Given the description of an element on the screen output the (x, y) to click on. 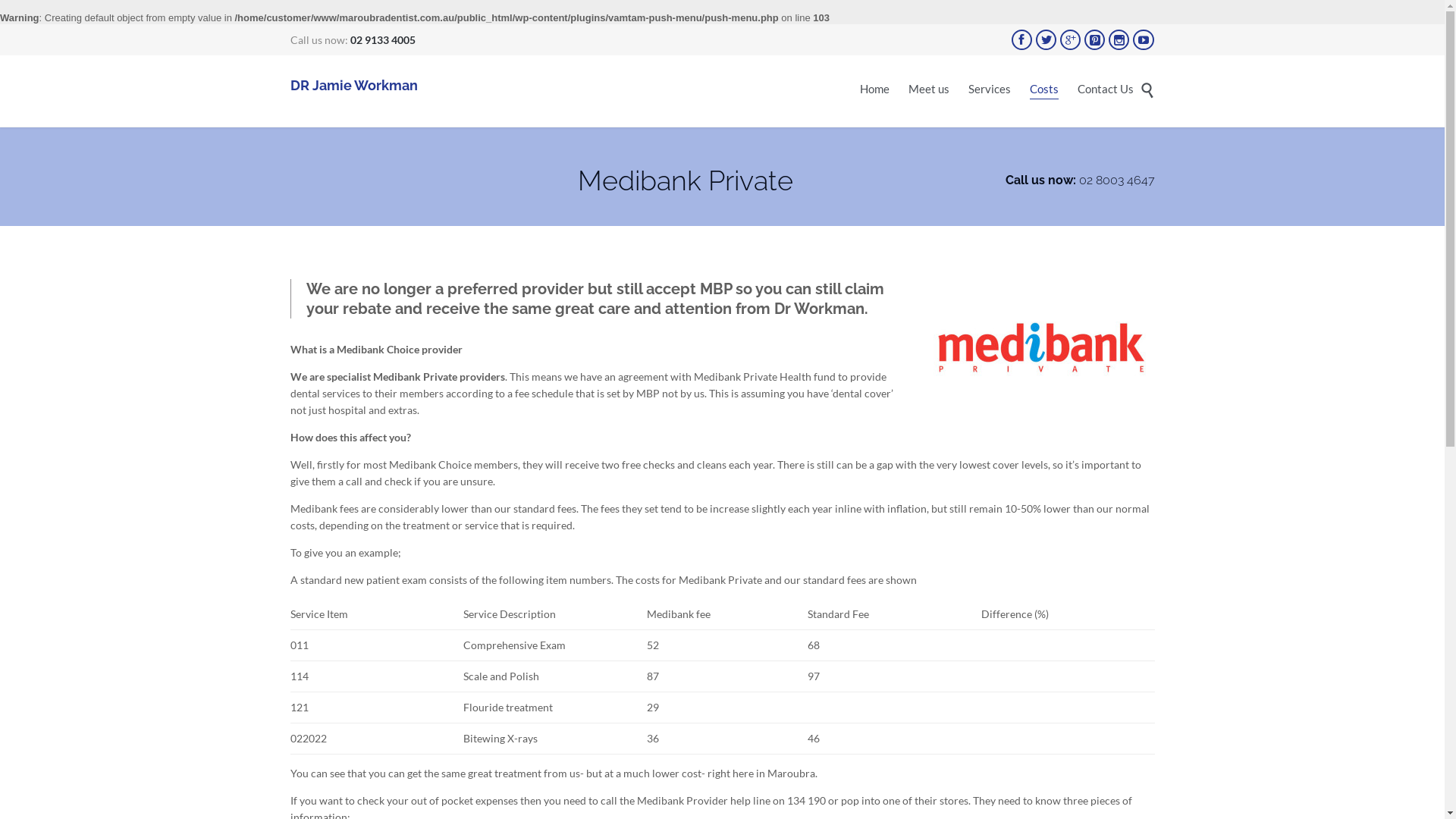
Contact Us Element type: text (1104, 91)
02 9133 4005 Element type: text (382, 39)
Costs Element type: text (1043, 89)
Skip to content Element type: text (1143, 76)
DR Jamie Workman Element type: text (353, 85)
Services Element type: text (988, 91)
Meet us Element type: text (928, 91)
Home Element type: text (874, 91)
